Given the description of an element on the screen output the (x, y) to click on. 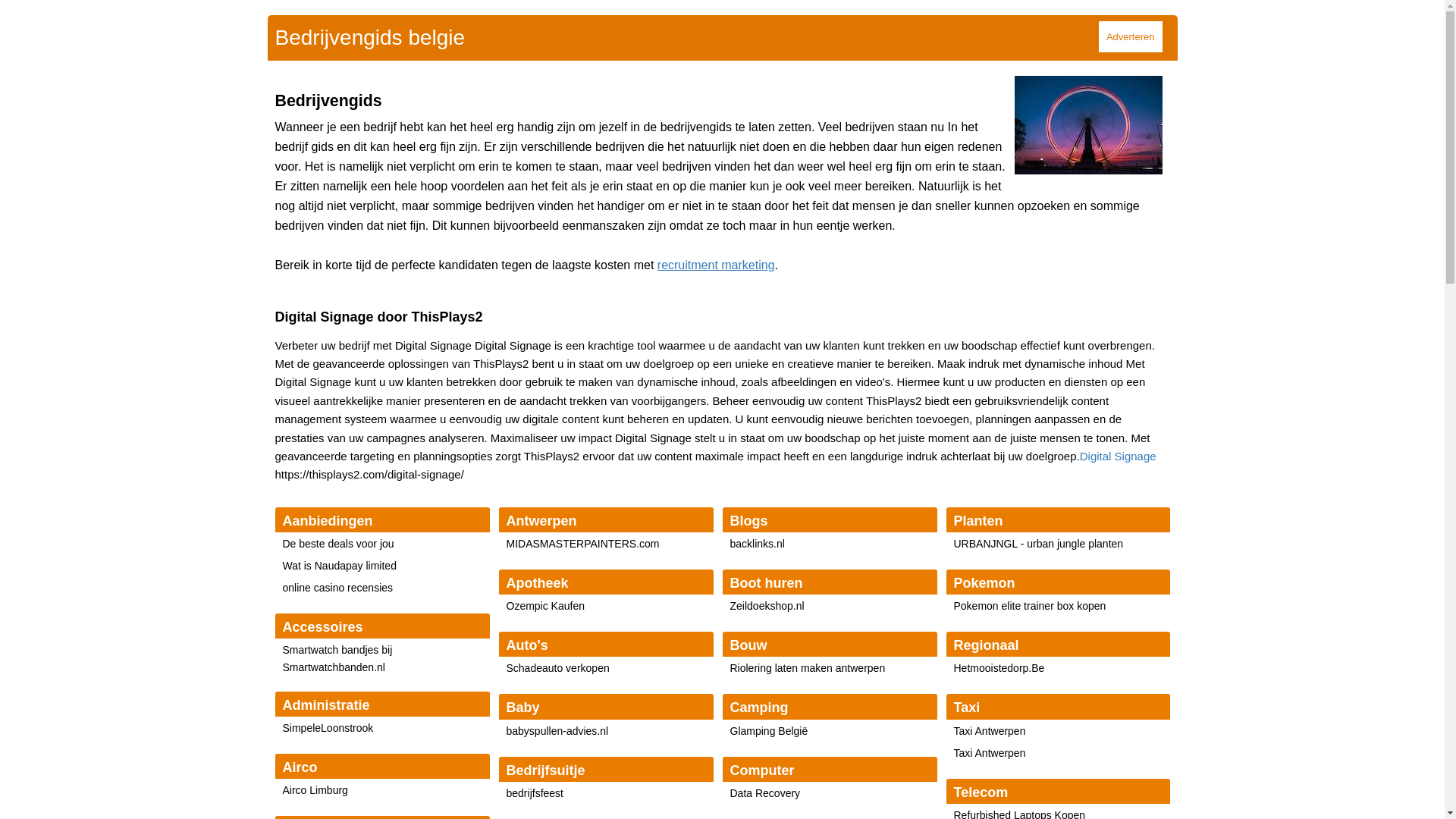
Hetmooistedorp.Be Element type: text (998, 668)
Adverteren Element type: text (1130, 36)
Bedrijvengids belgie Element type: text (369, 37)
Data Recovery Element type: text (764, 793)
URBANJNGL - urban jungle planten Element type: text (1038, 543)
Smartwatch bandjes bij Smartwatchbanden.nl Element type: text (337, 658)
Taxi Antwerpen Element type: text (989, 730)
Ozempic Kaufen Element type: text (545, 605)
Riolering laten maken antwerpen Element type: text (806, 668)
babyspullen-advies.nl Element type: text (557, 730)
Zeildoekshop.nl Element type: text (766, 605)
bedrijfsfeest Element type: text (534, 793)
Taxi Antwerpen Element type: text (989, 752)
De beste deals voor jou Element type: text (337, 543)
SimpeleLoonstrook Element type: text (327, 727)
recruitment marketing Element type: text (716, 264)
MIDASMASTERPAINTERS.com Element type: text (582, 543)
Airco Limburg Element type: text (314, 790)
backlinks.nl Element type: text (756, 543)
Digital Signage Element type: text (1117, 455)
Pokemon elite trainer box kopen Element type: text (1029, 605)
Wat is Naudapay limited Element type: text (338, 565)
online casino recensies Element type: text (337, 587)
Schadeauto verkopen Element type: text (557, 668)
